Given the description of an element on the screen output the (x, y) to click on. 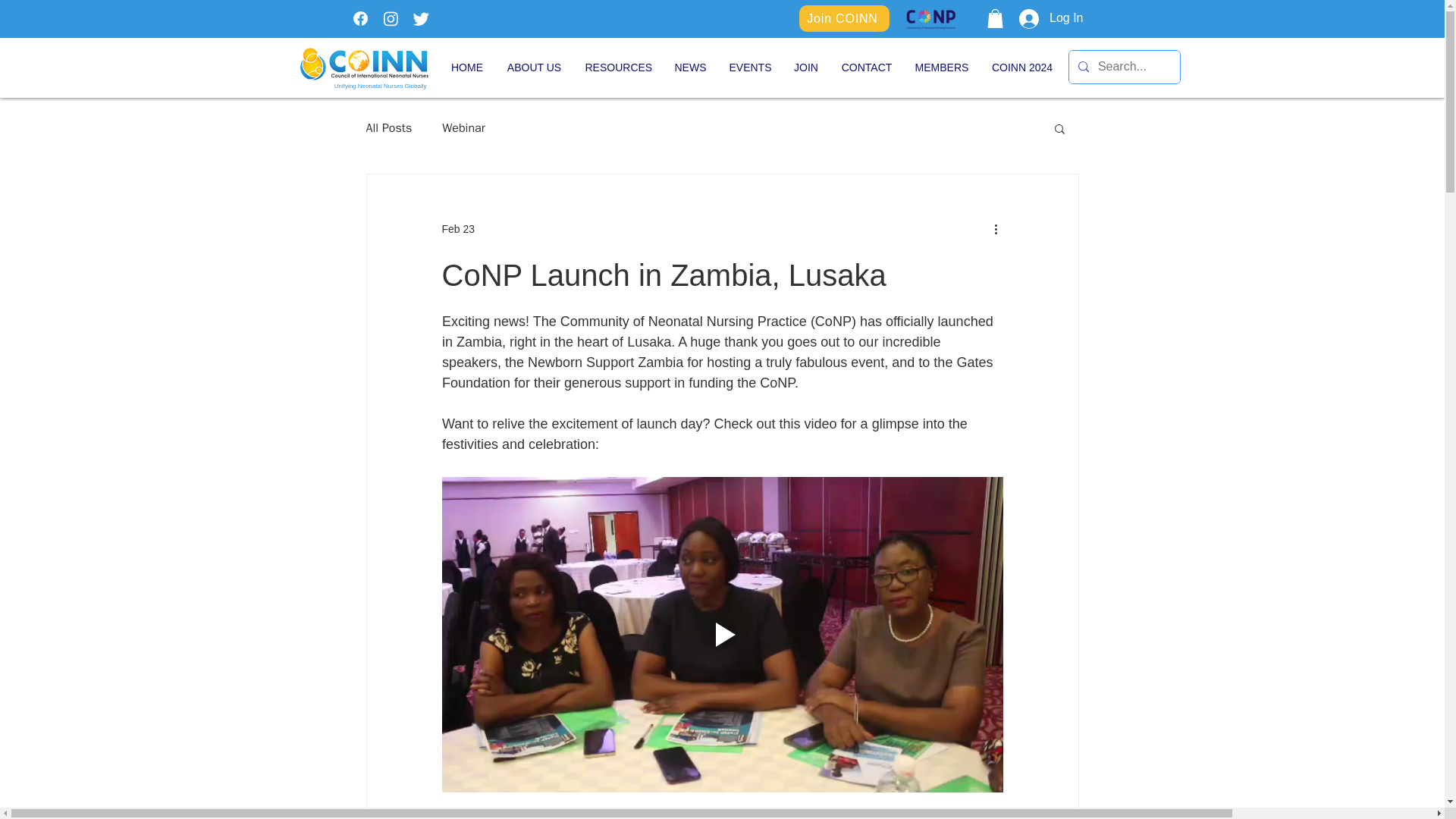
Feb 23 (457, 228)
HOME (467, 67)
CONTACT (865, 67)
ABOUT US (534, 67)
Log In (1051, 18)
EVENTS (749, 67)
RESOURCES (617, 67)
3.png (930, 17)
Join COINN (844, 17)
